Given the description of an element on the screen output the (x, y) to click on. 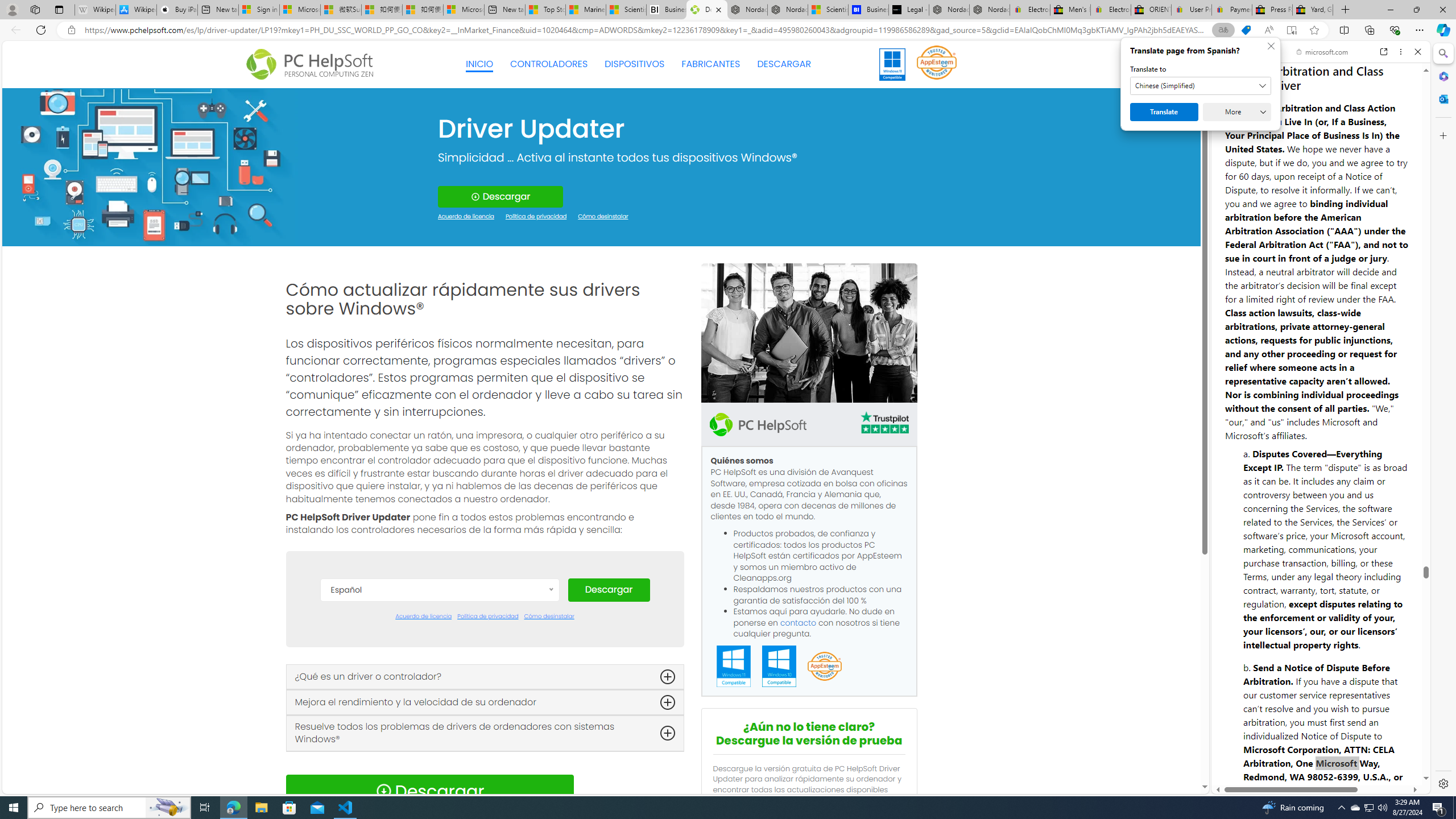
This site scope (1259, 102)
Nordace - Summer Adventures 2024 (949, 9)
DISPOSITIVOS (634, 64)
Search the web (1326, 78)
App Esteem (823, 666)
Buy iPad - Apple (176, 9)
